Given the description of an element on the screen output the (x, y) to click on. 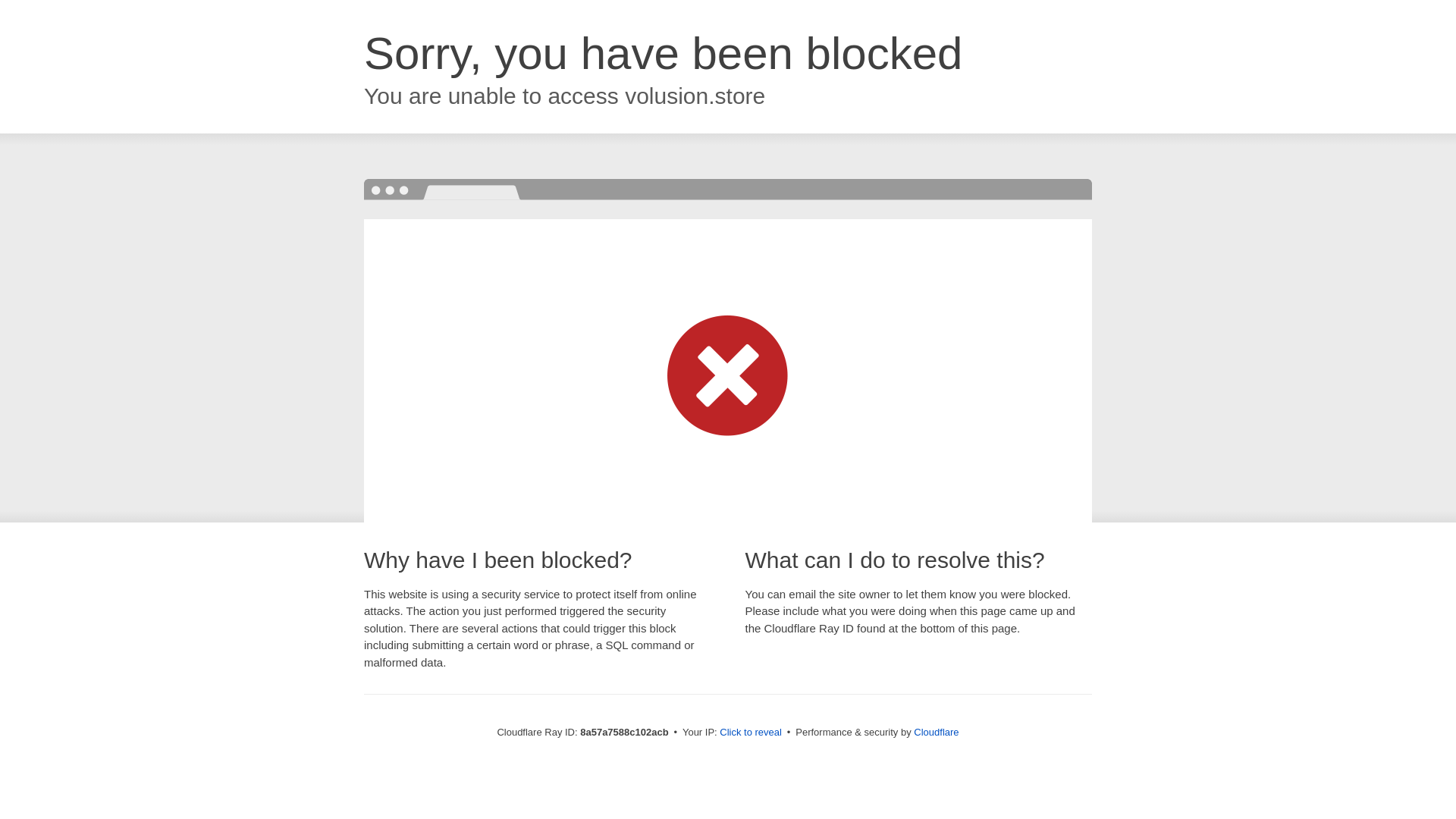
Click to reveal (750, 732)
Cloudflare (936, 731)
